Given the description of an element on the screen output the (x, y) to click on. 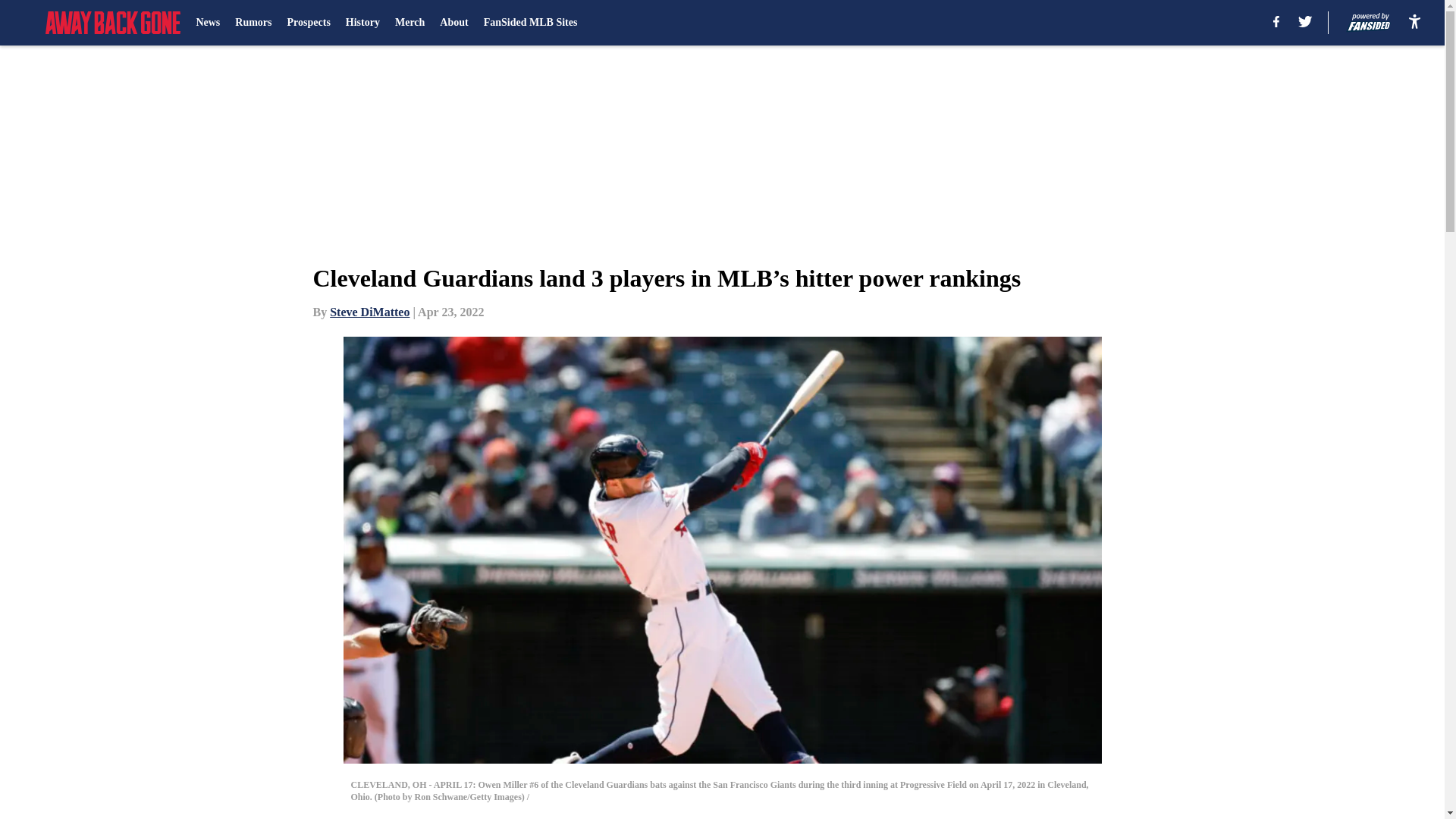
Steve DiMatteo (369, 311)
Merch (409, 22)
FanSided MLB Sites (530, 22)
Rumors (252, 22)
About (453, 22)
History (363, 22)
Prospects (308, 22)
News (207, 22)
